Given the description of an element on the screen output the (x, y) to click on. 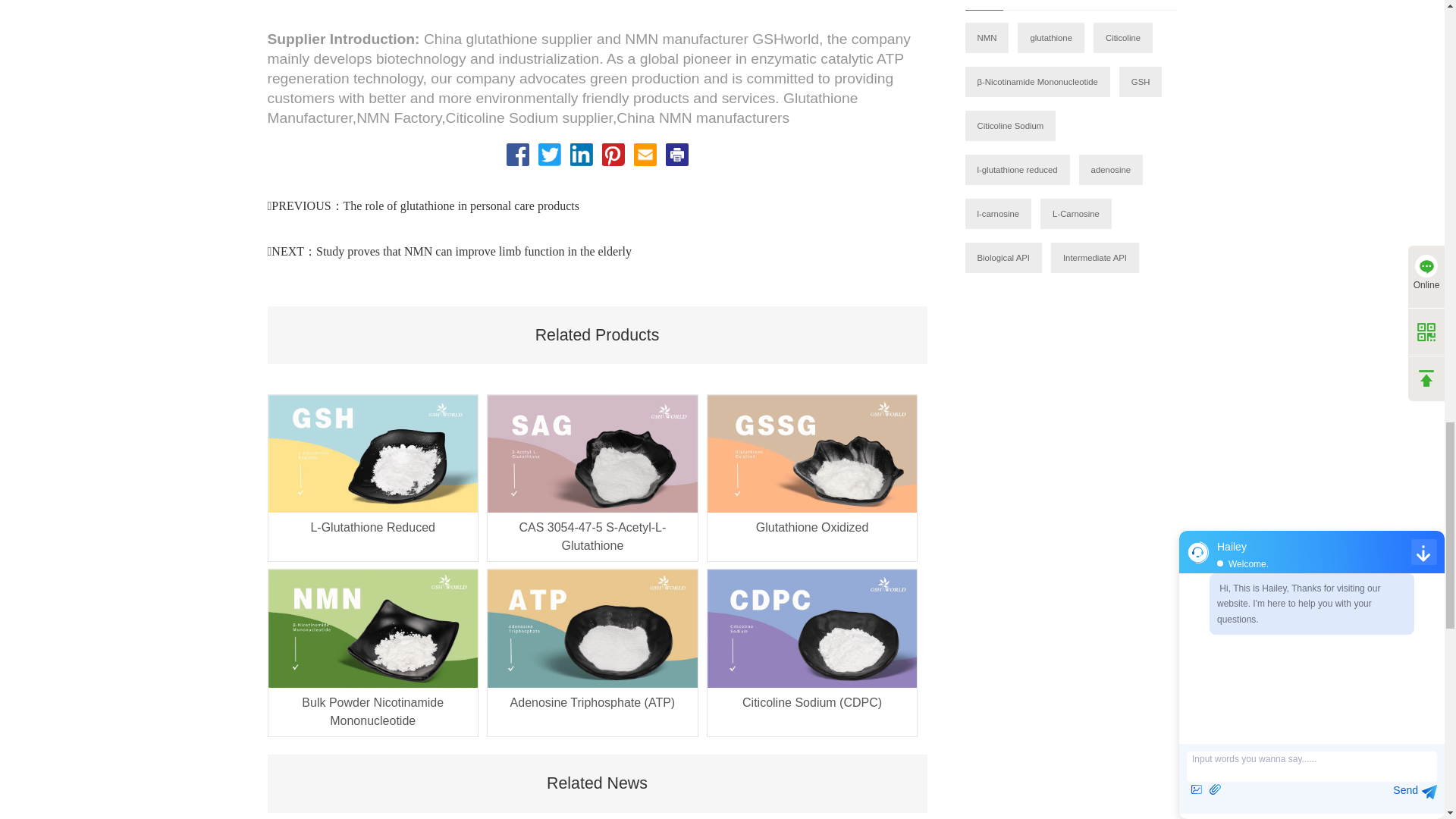
Pinterest (613, 154)
Linkedin (581, 154)
Glutathione Oxidized (812, 536)
Email (644, 154)
Print (676, 154)
Facebook (517, 154)
The role of glutathione in personal care products (461, 205)
Bulk Powder Nicotinamide Mononucleotide (373, 711)
Twitter (549, 154)
CAS 3054-47-5 S-Acetyl-L-Glutathione (591, 536)
L-Glutathione Reduced (373, 536)
